Given the description of an element on the screen output the (x, y) to click on. 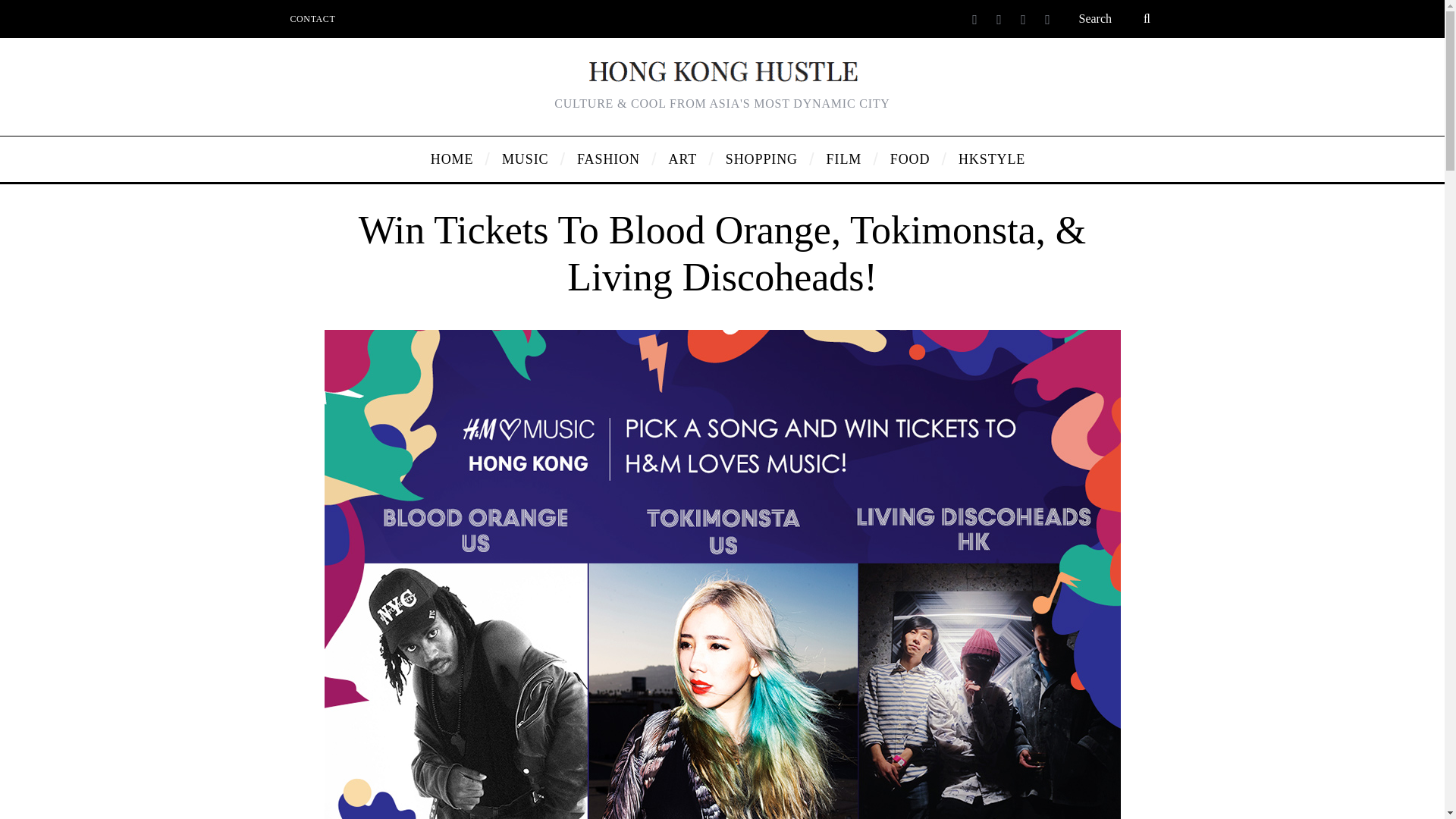
CONTACT (313, 18)
Search (1116, 18)
